Given the description of an element on the screen output the (x, y) to click on. 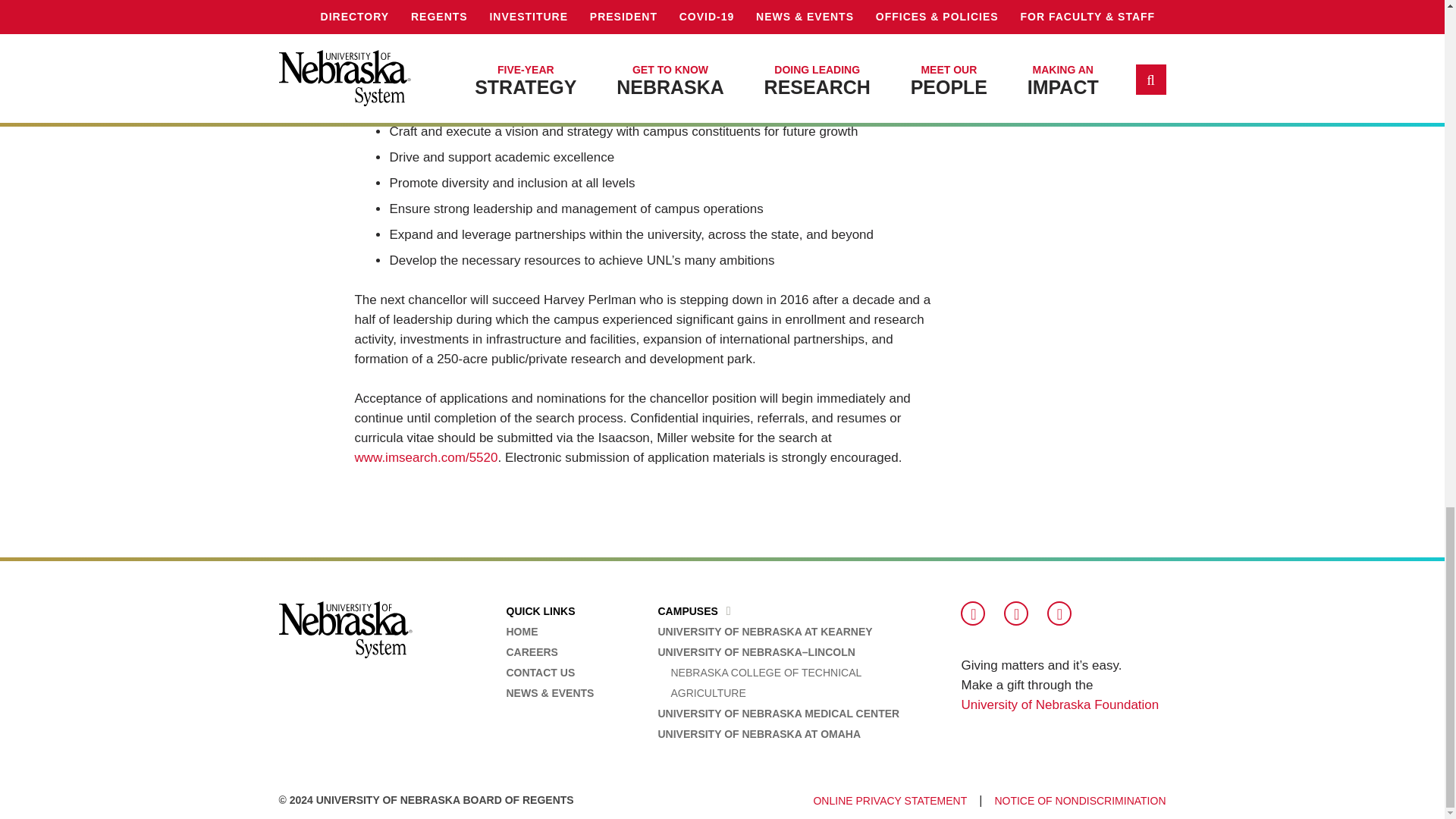
This link will open in a new browser window (1059, 704)
